Given the description of an element on the screen output the (x, y) to click on. 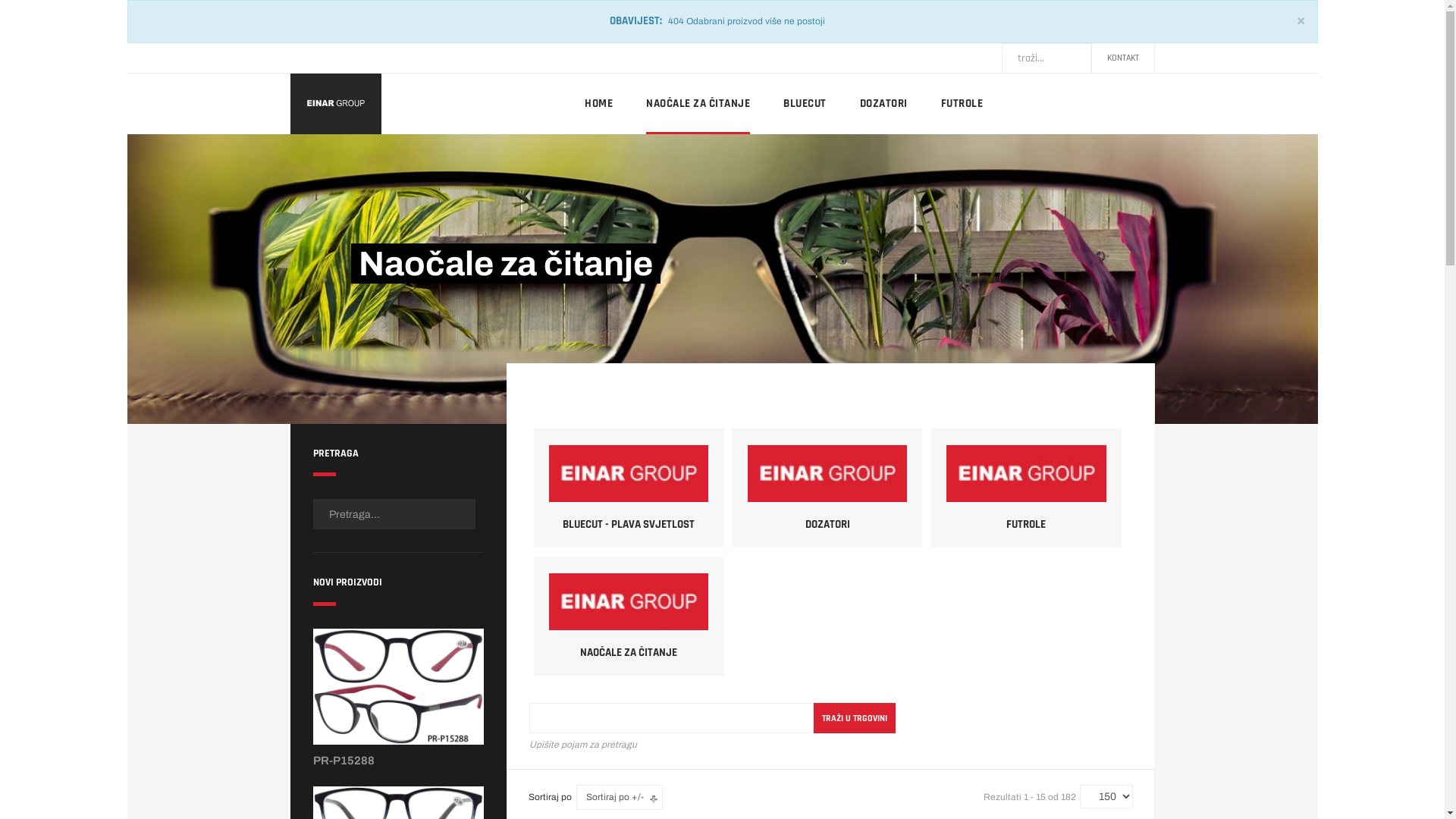
PR-P15288 Element type: text (342, 760)
DOZATORI Element type: text (883, 103)
HOME Element type: text (598, 103)
PR-P15288 Element type: hover (397, 690)
www.naocalezacitanje.ba Element type: hover (334, 103)
DOZATORI Element type: text (827, 487)
FUTROLE Element type: text (1025, 487)
Sortiraj po +/- Element type: text (614, 797)
KONTAKT Element type: text (1123, 58)
BLUECUT - PLAVA SVJETLOST Element type: text (628, 487)
BLUECUT Element type: text (804, 103)
FUTROLE Element type: text (961, 103)
